Given the description of an element on the screen output the (x, y) to click on. 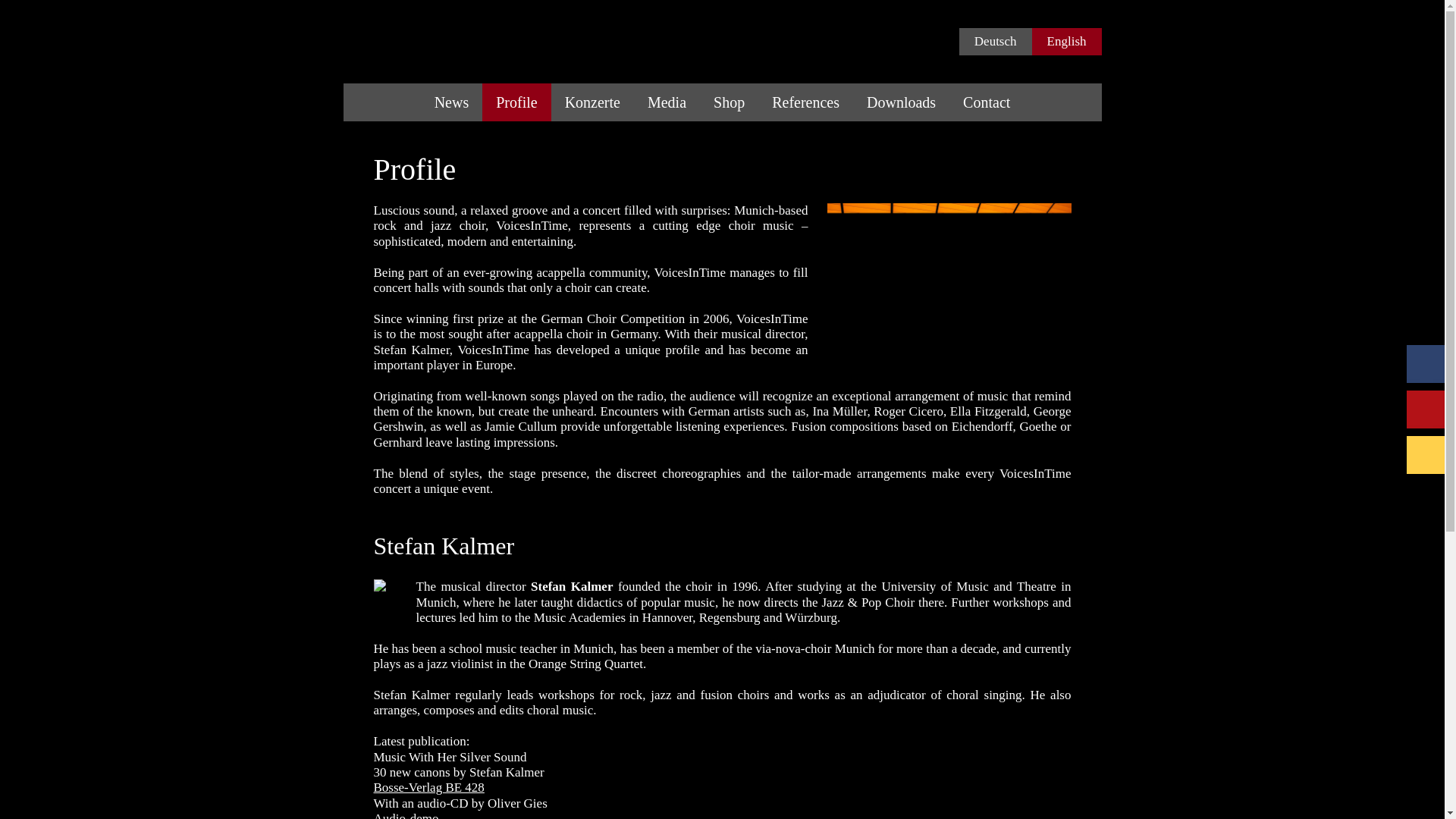
Bosse-Verlag BE 428 (427, 787)
Media (666, 102)
News (451, 102)
Audio-demo (405, 815)
Konzerte (592, 102)
